Given the description of an element on the screen output the (x, y) to click on. 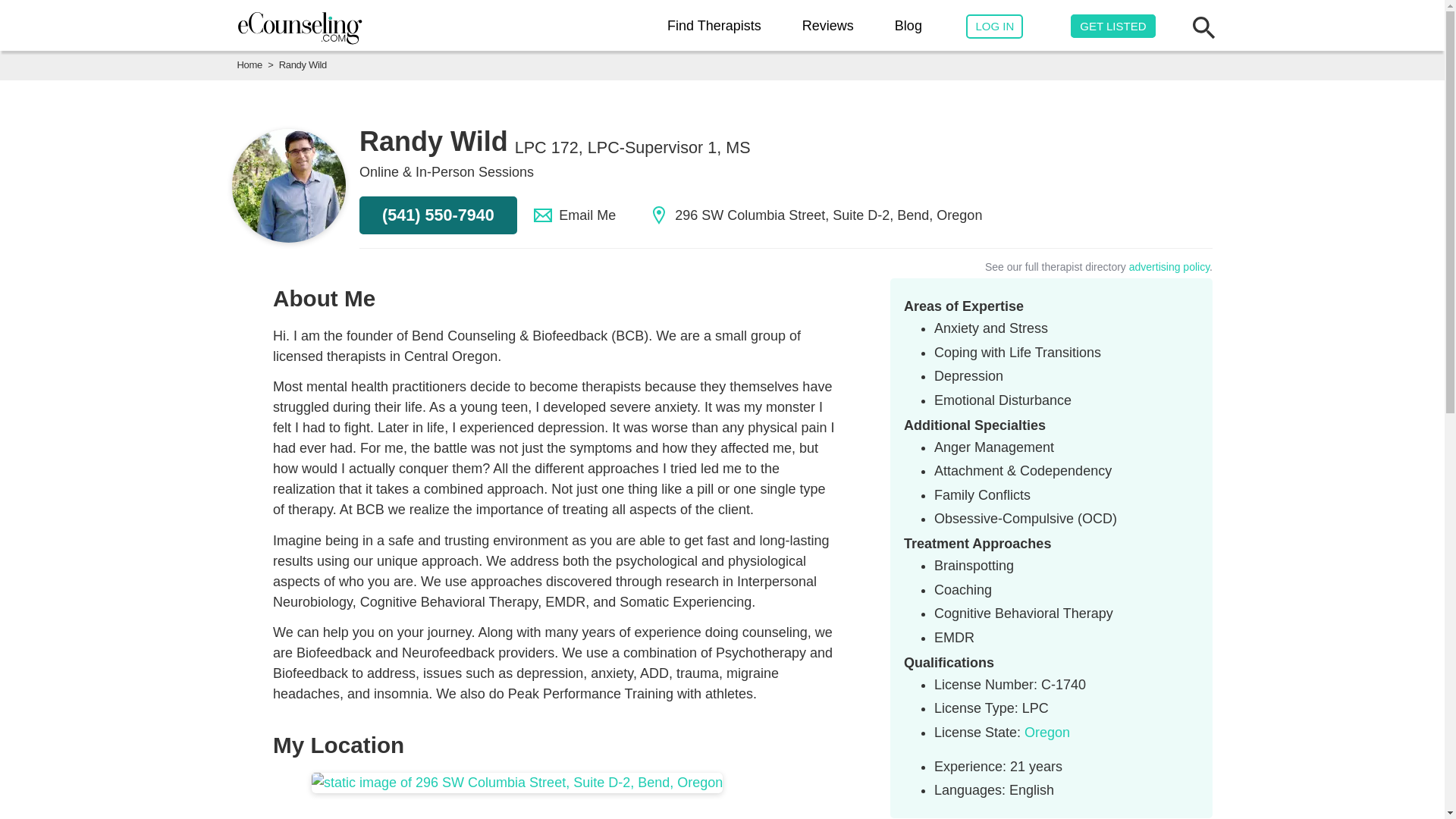
Find Therapists (713, 25)
Home (248, 64)
Blog (908, 25)
296 SW Columbia Street, Suite D-2, Bend, Oregon (815, 215)
Reviews (827, 25)
Oregon (1047, 732)
GET LISTED (1112, 25)
advertising policy (1169, 266)
LOG IN (994, 26)
Email Me (575, 215)
